Given the description of an element on the screen output the (x, y) to click on. 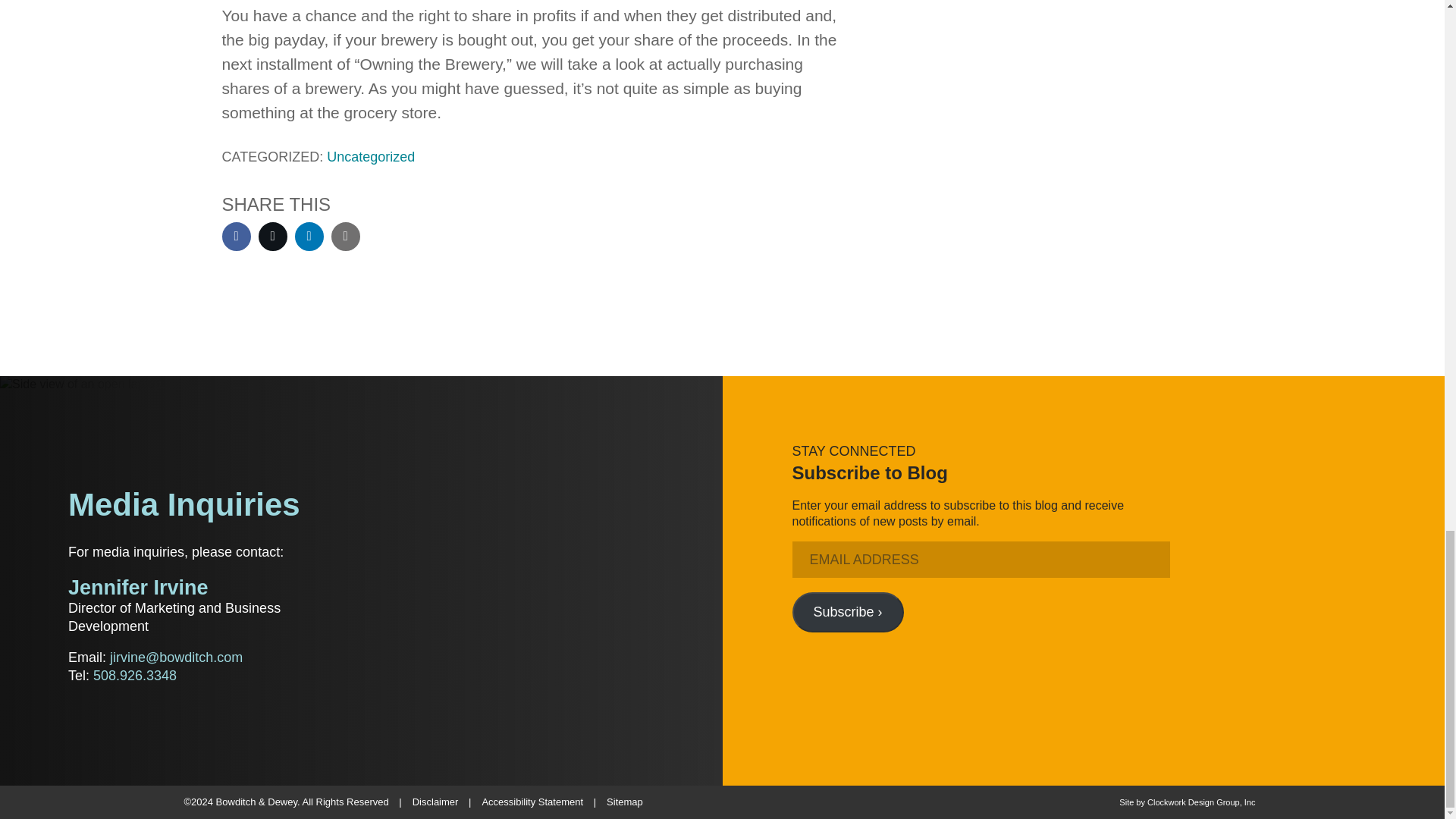
Site by Clockwork Design Group, Inc (1187, 801)
508.926.3348 (134, 675)
Uncategorized (370, 156)
Accessibility Statement (532, 801)
Disclaimer (435, 801)
Sitemap (625, 801)
